Given the description of an element on the screen output the (x, y) to click on. 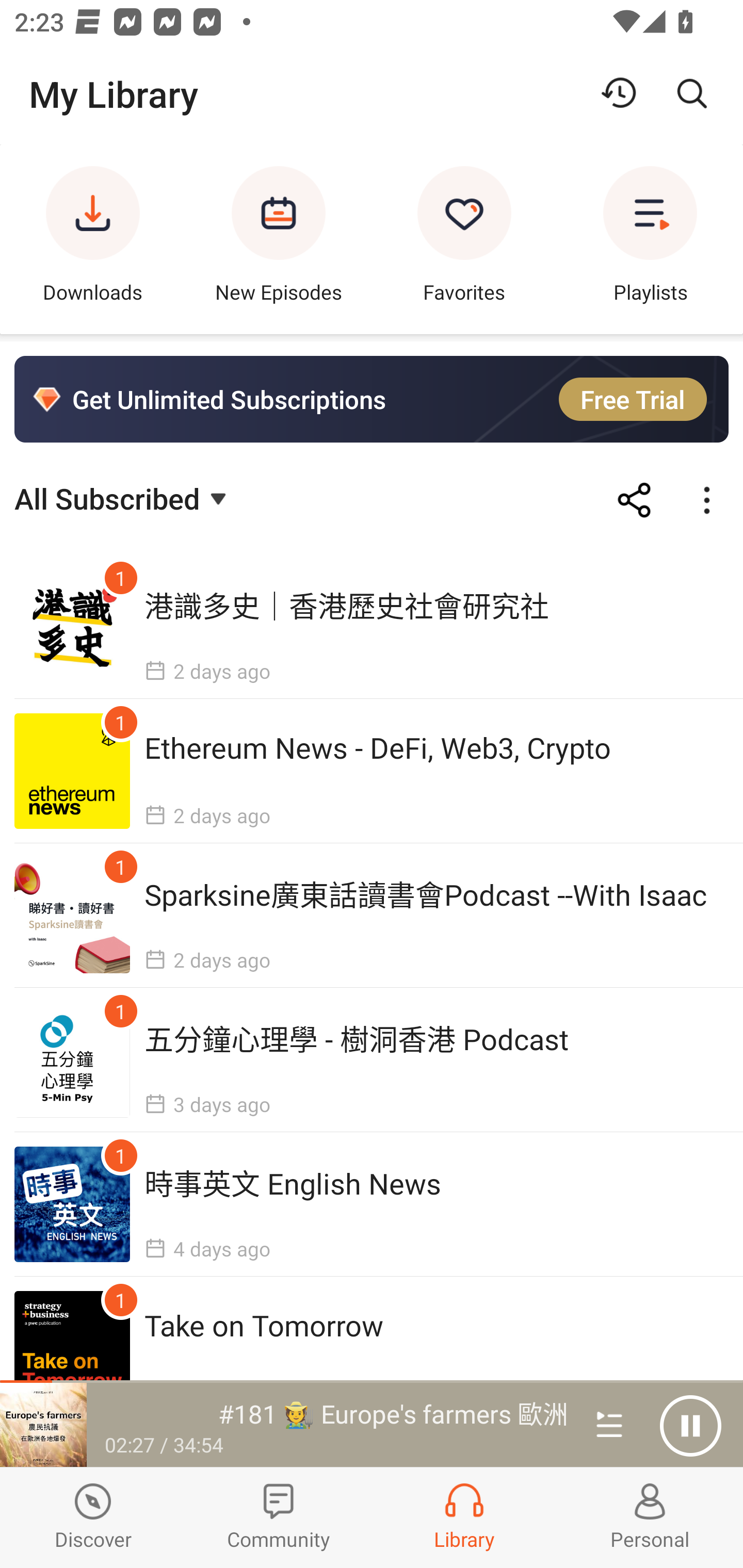
Downloads (92, 238)
New Episodes (278, 238)
Favorites (464, 238)
Playlists (650, 238)
Get Unlimited Subscriptions Free Trial (371, 398)
Free Trial (632, 398)
All Subscribed (123, 497)
港識多史｜香港歷史社會研究社 1 港識多史｜香港歷史社會研究社  2 days ago (371, 627)
時事英文 English News 1 時事英文 English News  4 days ago (371, 1204)
Take on Tomorrow 1 Take on Tomorrow  Sep 18 2023 (371, 1348)
#181 🧑‍🌾 Europe's farmers 歐洲各地爆發農民抗議 02:27 / 34:54 (283, 1424)
Pause (690, 1425)
Discover (92, 1517)
Community (278, 1517)
Library (464, 1517)
Profiles and Settings Personal (650, 1517)
